Given the description of an element on the screen output the (x, y) to click on. 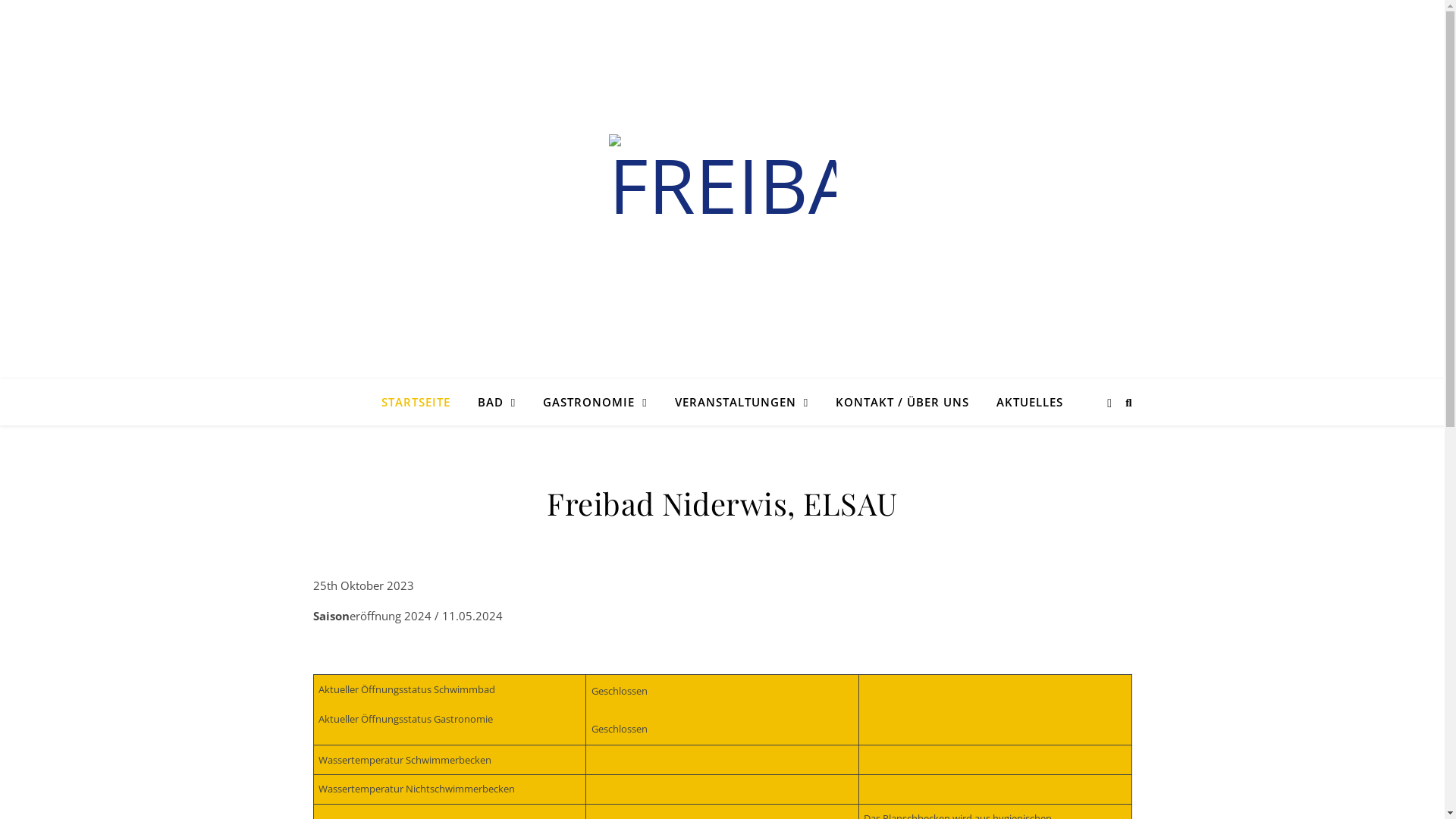
AKTUELLES Element type: text (1023, 401)
STARTSEITE Element type: text (421, 401)
Freibad Niderwis Element type: hover (722, 180)
GASTRONOMIE Element type: text (594, 402)
BAD Element type: text (496, 402)
VERANSTALTUNGEN Element type: text (741, 402)
